Given the description of an element on the screen output the (x, y) to click on. 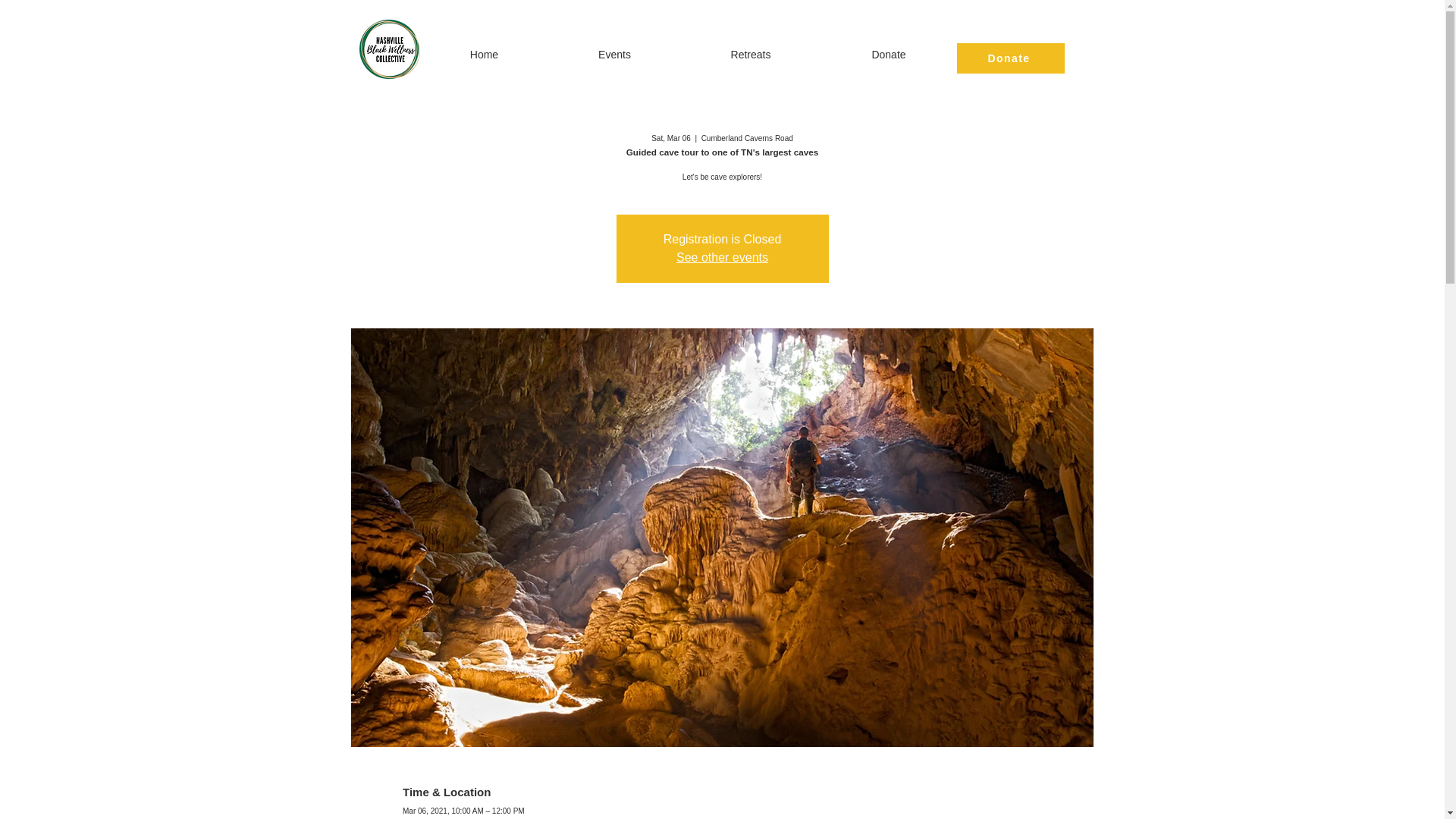
See other events (722, 256)
Home (484, 54)
Donate (1010, 58)
Retreats (751, 54)
Copy of Copy of LOGO Blck Transparent.png (389, 48)
Events (614, 54)
Donate (888, 54)
